Given the description of an element on the screen output the (x, y) to click on. 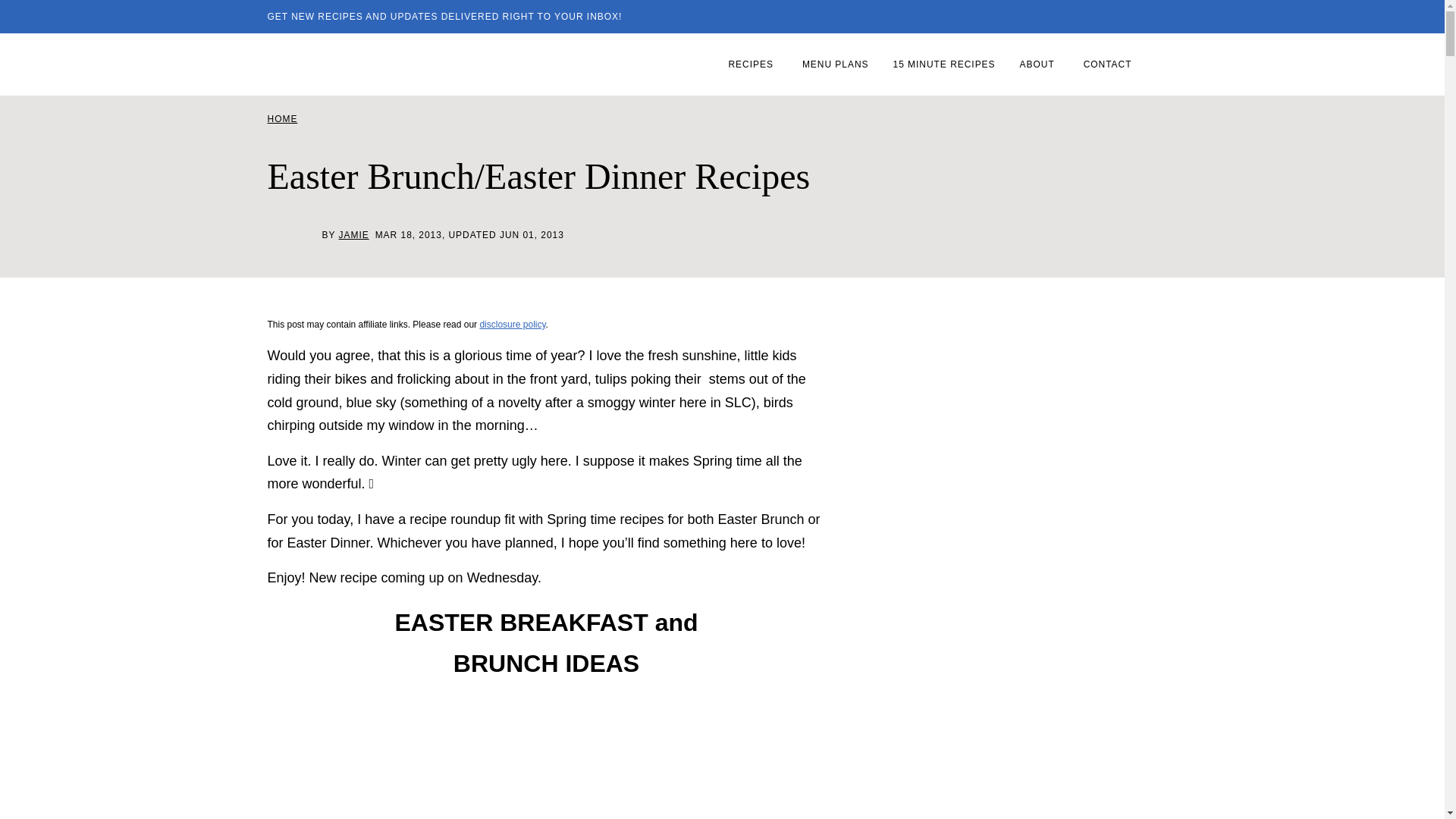
MENU PLANS (835, 63)
RECIPES (752, 63)
15 MINUTE RECIPES (943, 63)
GET NEW RECIPES AND UPDATES DELIVERED RIGHT TO YOUR INBOX! (443, 16)
ABOUT (1039, 63)
